Given the description of an element on the screen output the (x, y) to click on. 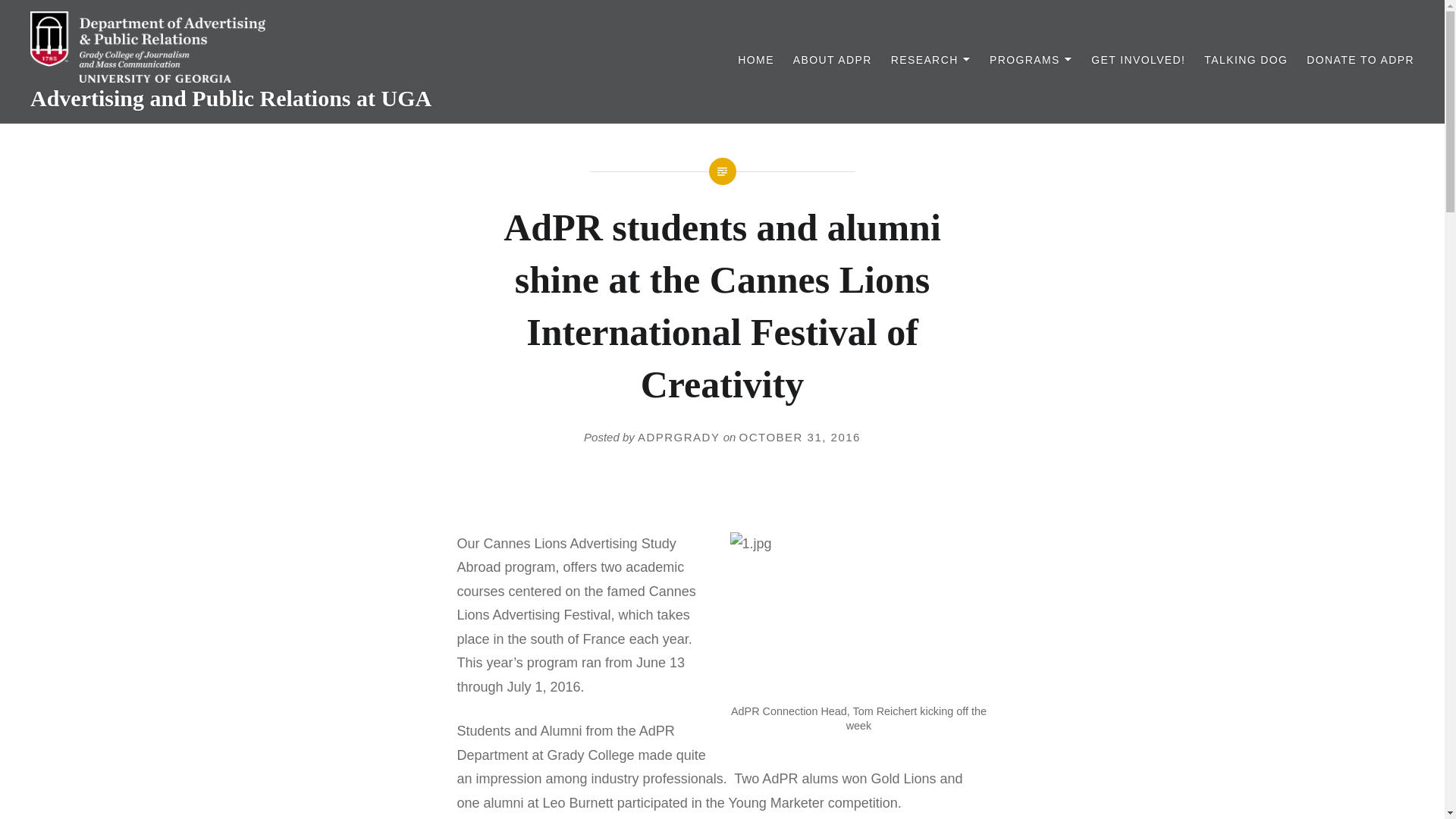
RESEARCH (931, 59)
ADPRGRADY (678, 436)
Search (190, 19)
TALKING DOG (1245, 59)
ABOUT ADPR (832, 59)
DONATE TO ADPR (1359, 59)
Advertising and Public Relations at UGA (230, 97)
GET INVOLVED! (1137, 59)
OCTOBER 31, 2016 (799, 436)
HOME (756, 59)
PROGRAMS (1030, 59)
